Given the description of an element on the screen output the (x, y) to click on. 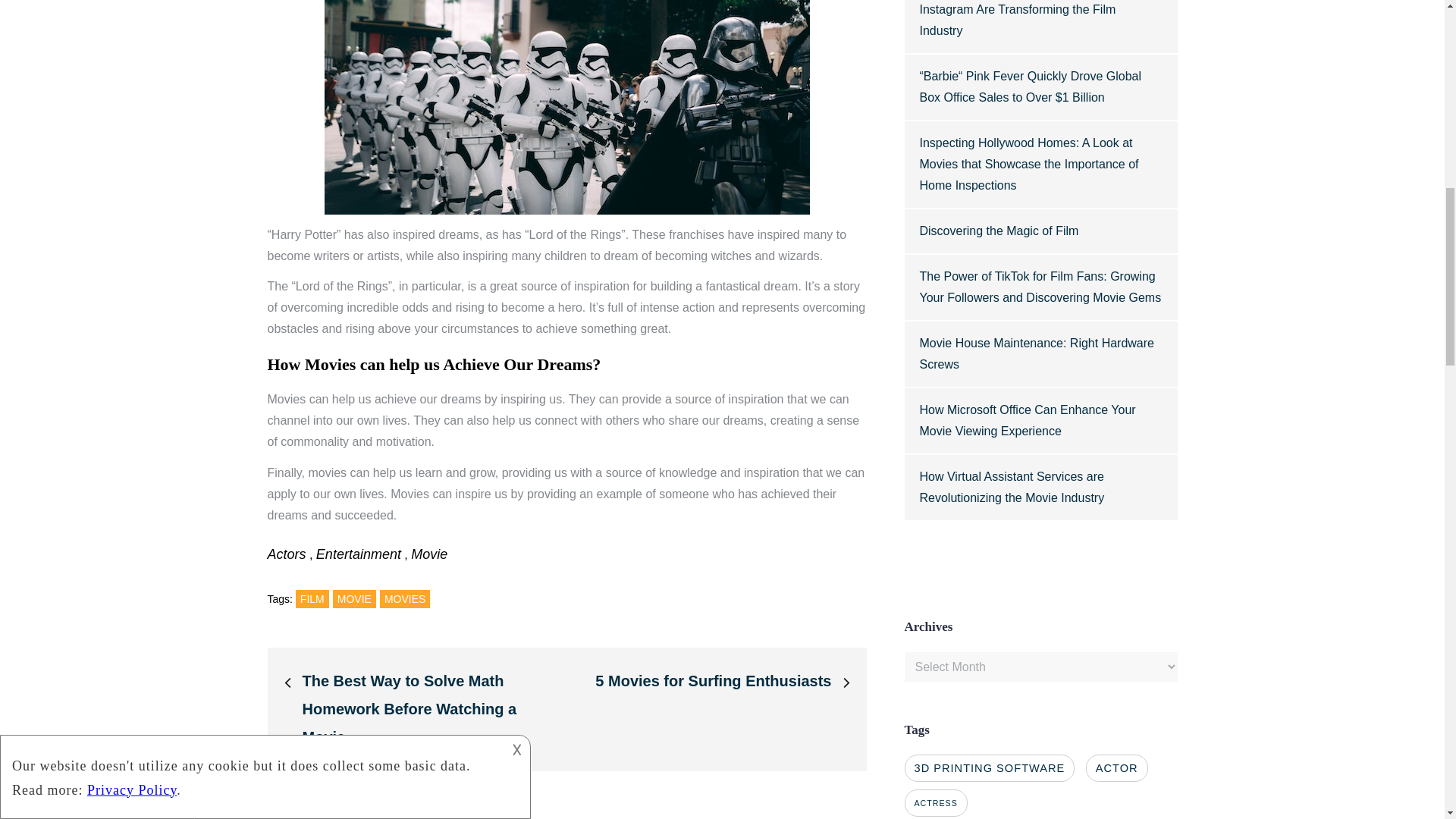
Actors (285, 554)
Entertainment (358, 554)
ACTRESS (935, 802)
FILM (312, 598)
MOVIE (354, 598)
3D PRINTING SOFTWARE (989, 768)
Discovering the Magic of Film (998, 230)
Movie House Maintenance: Right Hardware Screws (1035, 353)
ACTOR (1117, 768)
MOVIES (404, 598)
Movie (428, 554)
